Given the description of an element on the screen output the (x, y) to click on. 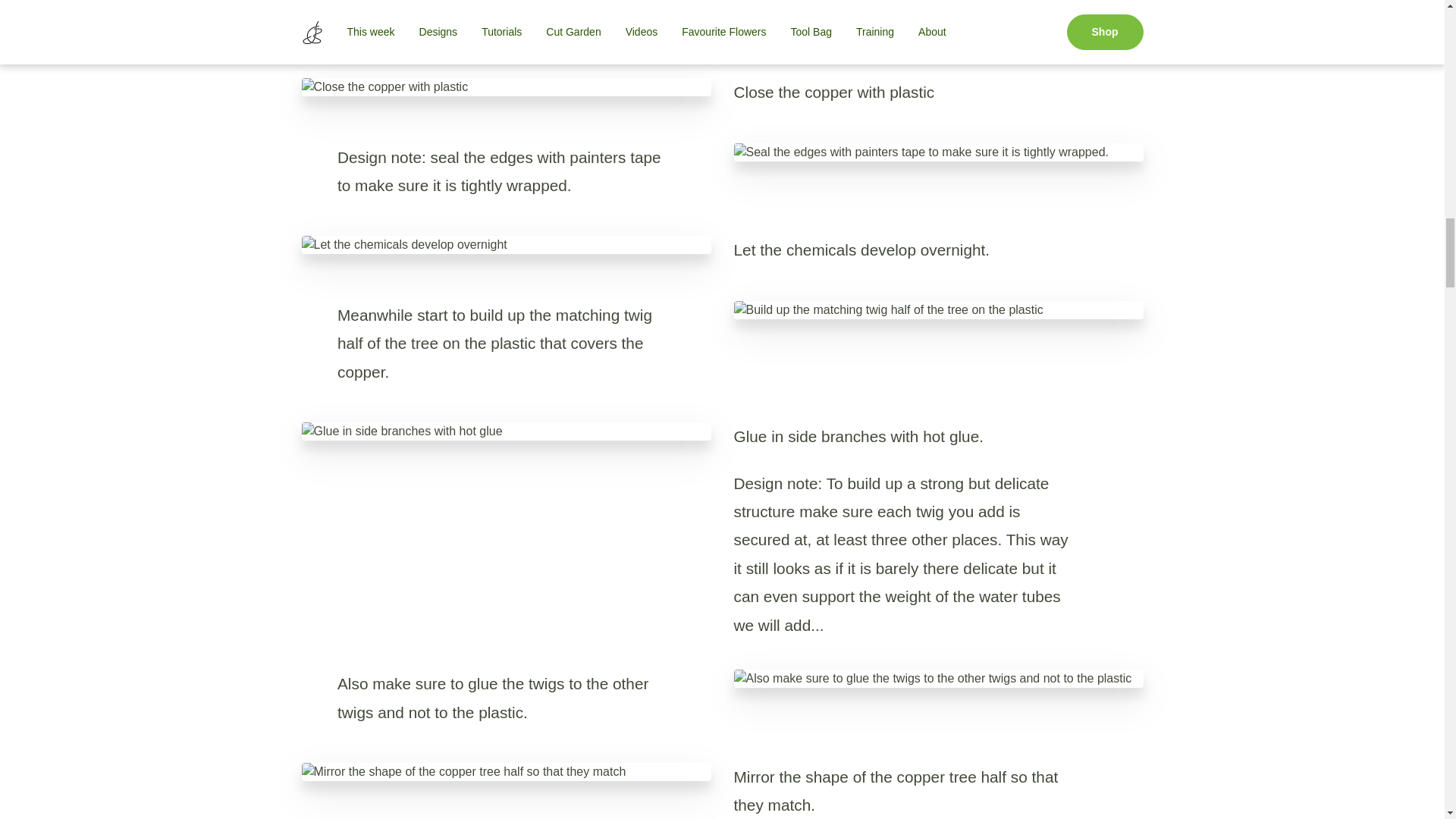
Mirror the shape of the copper tree half so that they match (506, 771)
Close the copper with plastic (506, 86)
Build up the matching twig half of the tree on the plastic (937, 310)
Glue in side branches with hot glue (506, 431)
Let the chemicals develop overnight (506, 244)
